Given the description of an element on the screen output the (x, y) to click on. 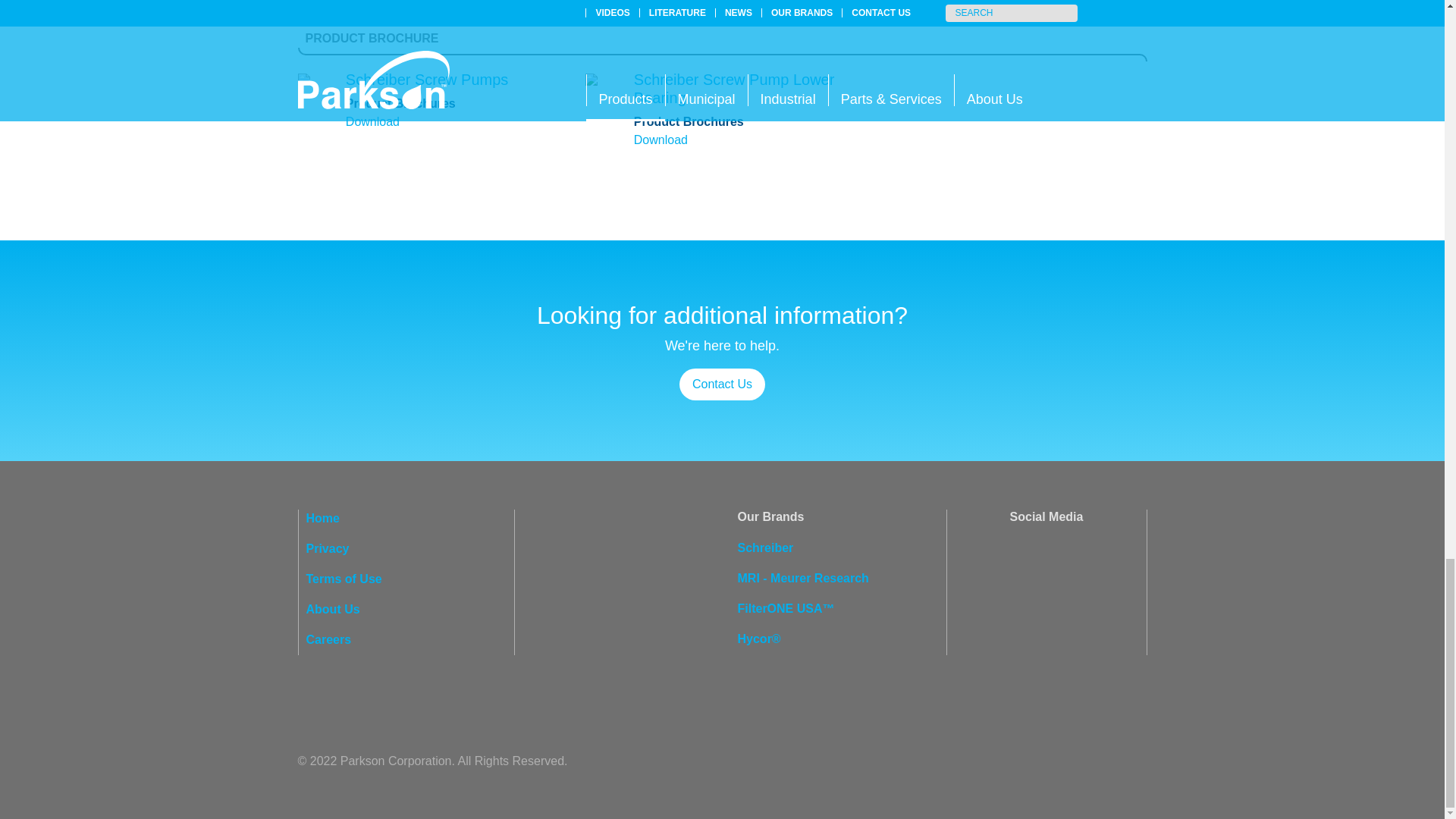
Download Schreiber Screw Pump Lower Bearing (660, 139)
Download Schreiber Screw Pumps (427, 79)
Download Schreiber Screw Pump Lower Bearing (733, 88)
Download Schreiber Screw Pumps (372, 121)
